Given the description of an element on the screen output the (x, y) to click on. 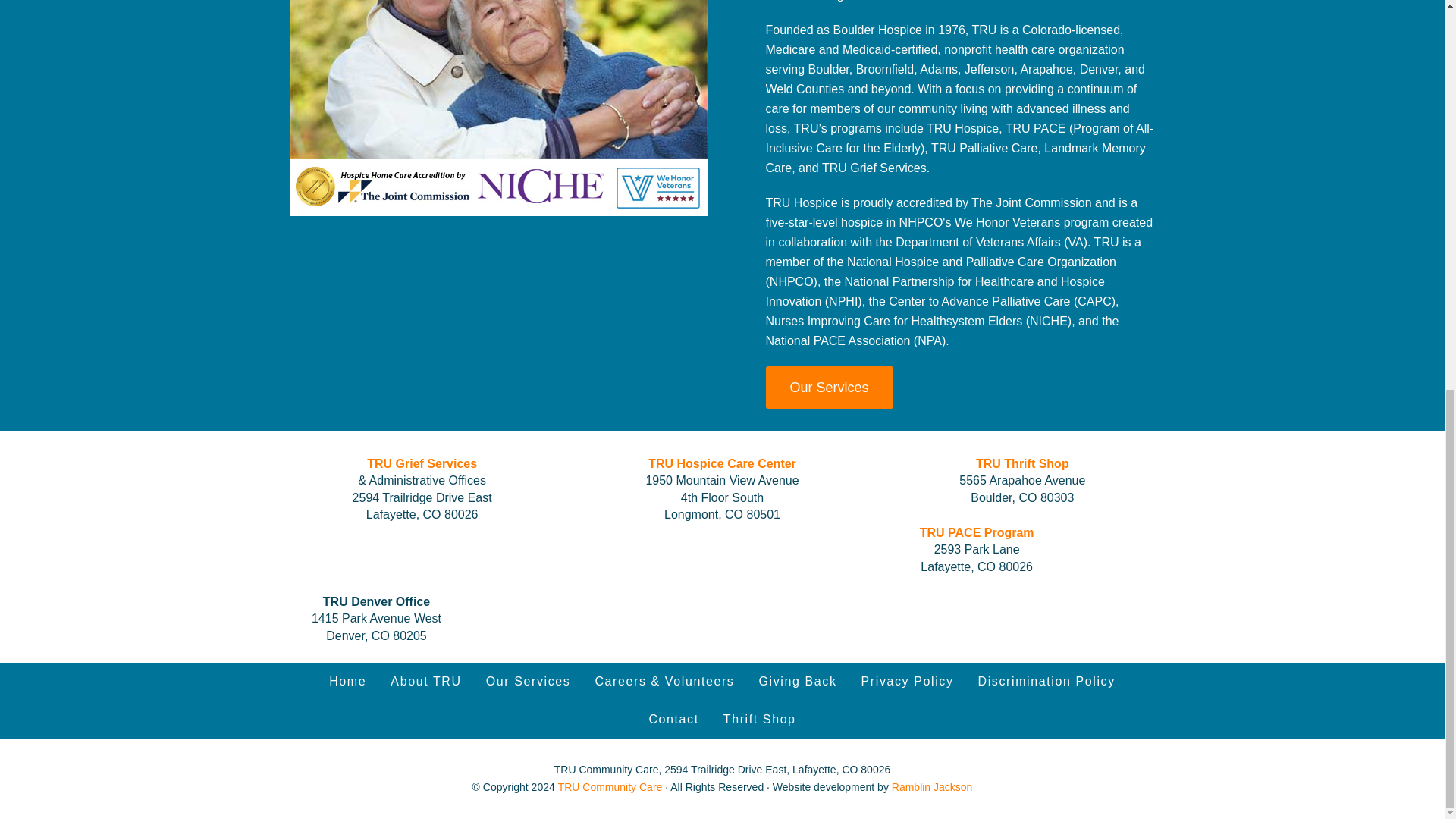
Boulder Thrift Store (759, 719)
